Given the description of an element on the screen output the (x, y) to click on. 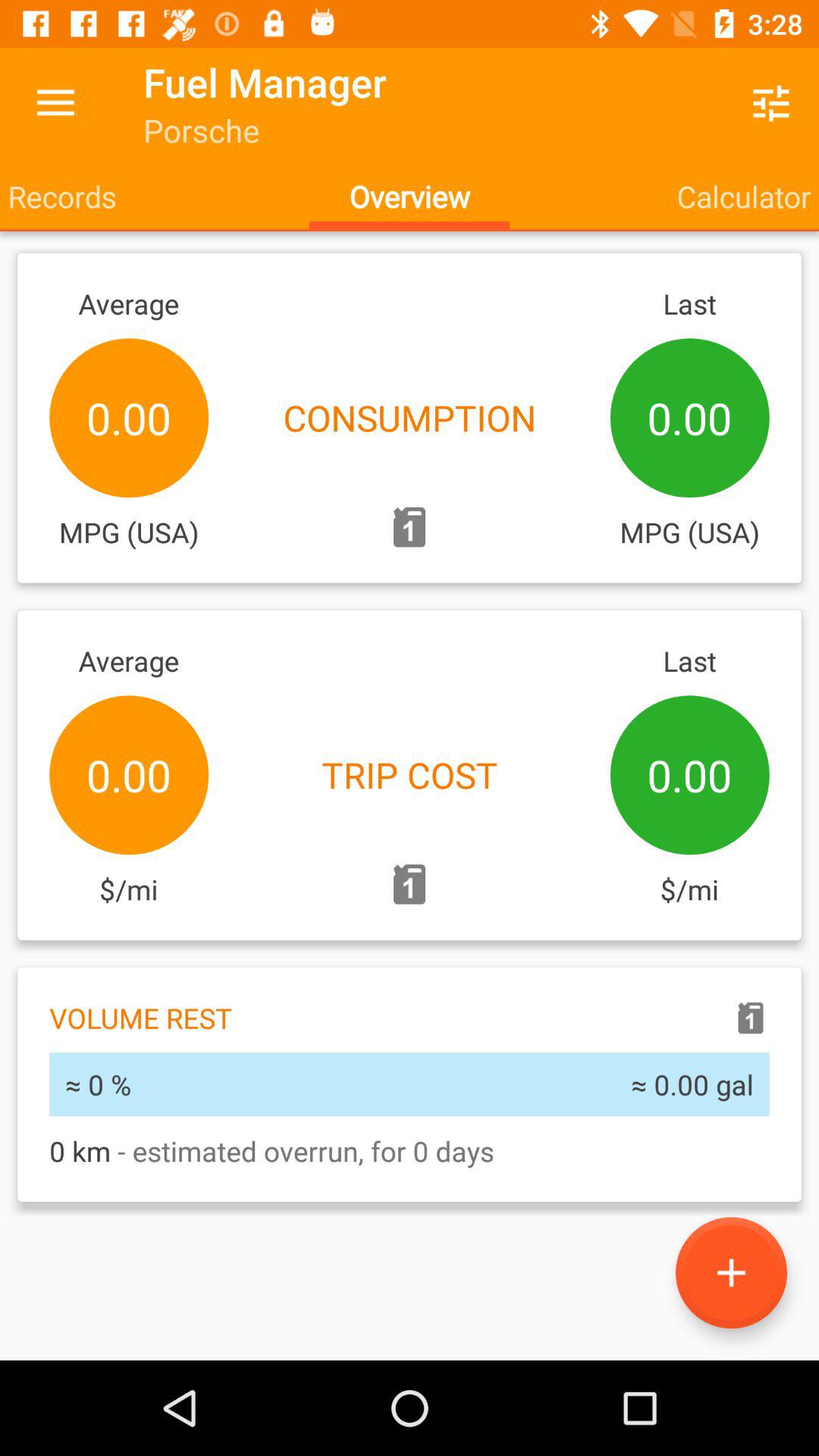
toggle to expand (731, 1272)
